Given the description of an element on the screen output the (x, y) to click on. 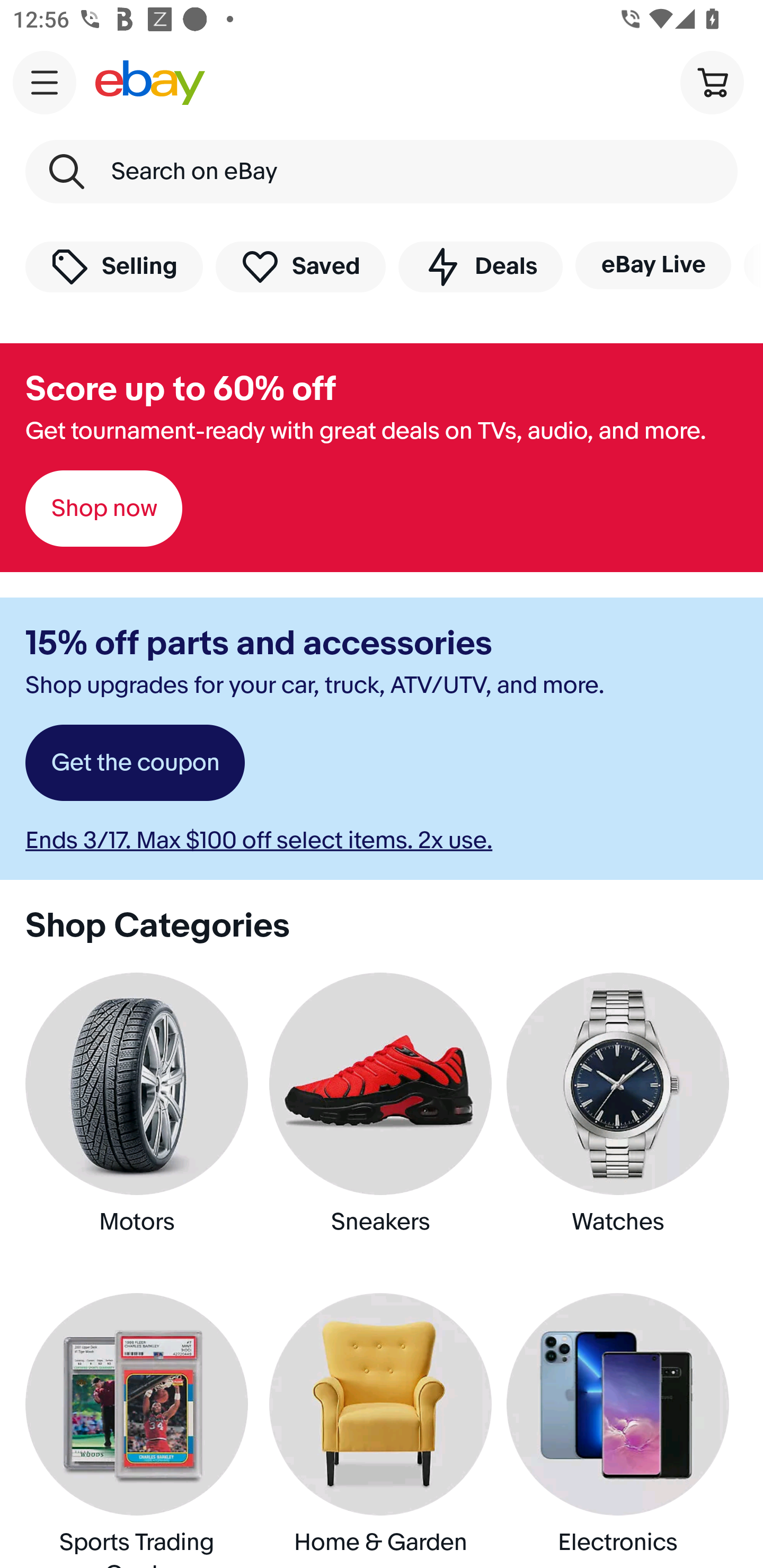
Main navigation, open (44, 82)
Cart button shopping cart (711, 81)
Search on eBay Search Keyword Search on eBay (381, 171)
Selling (113, 266)
Saved (300, 266)
Deals (480, 266)
eBay Live (652, 264)
Score up to 60% off (180, 389)
Shop now (103, 508)
15% off parts and accessories (258, 643)
Get the coupon (134, 762)
Ends 3/17. Max $100 off select items. 2x use. (258, 840)
Motors (140, 1119)
Sneakers (381, 1119)
Watches (621, 1119)
Sports Trading Cards (140, 1430)
Home & Garden (381, 1430)
Electronics (621, 1430)
